Given the description of an element on the screen output the (x, y) to click on. 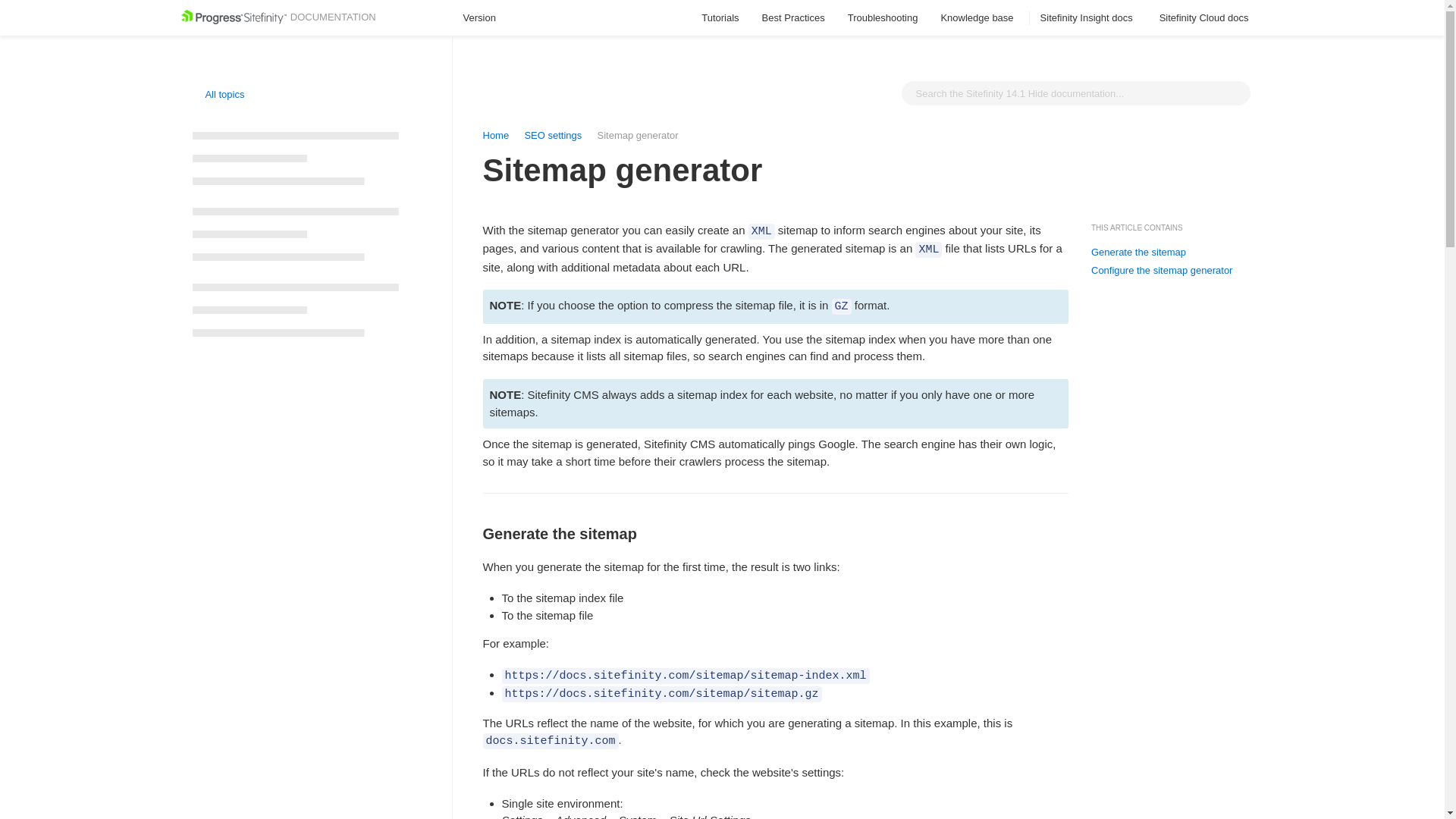
Knowledge base (977, 18)
Best Practices (793, 18)
DOCUMENTATION (277, 16)
Search (1234, 93)
Tutorials (719, 18)
Sitefinity Insight docs (1088, 18)
Troubleshooting (882, 18)
Home (494, 134)
Version (486, 18)
Generate the sitemap (1138, 252)
All topics (218, 93)
Generate the sitemap (774, 488)
Configure the sitemap generator (1160, 270)
Sitefinity Cloud docs (1205, 18)
SEO settings (552, 134)
